Given the description of an element on the screen output the (x, y) to click on. 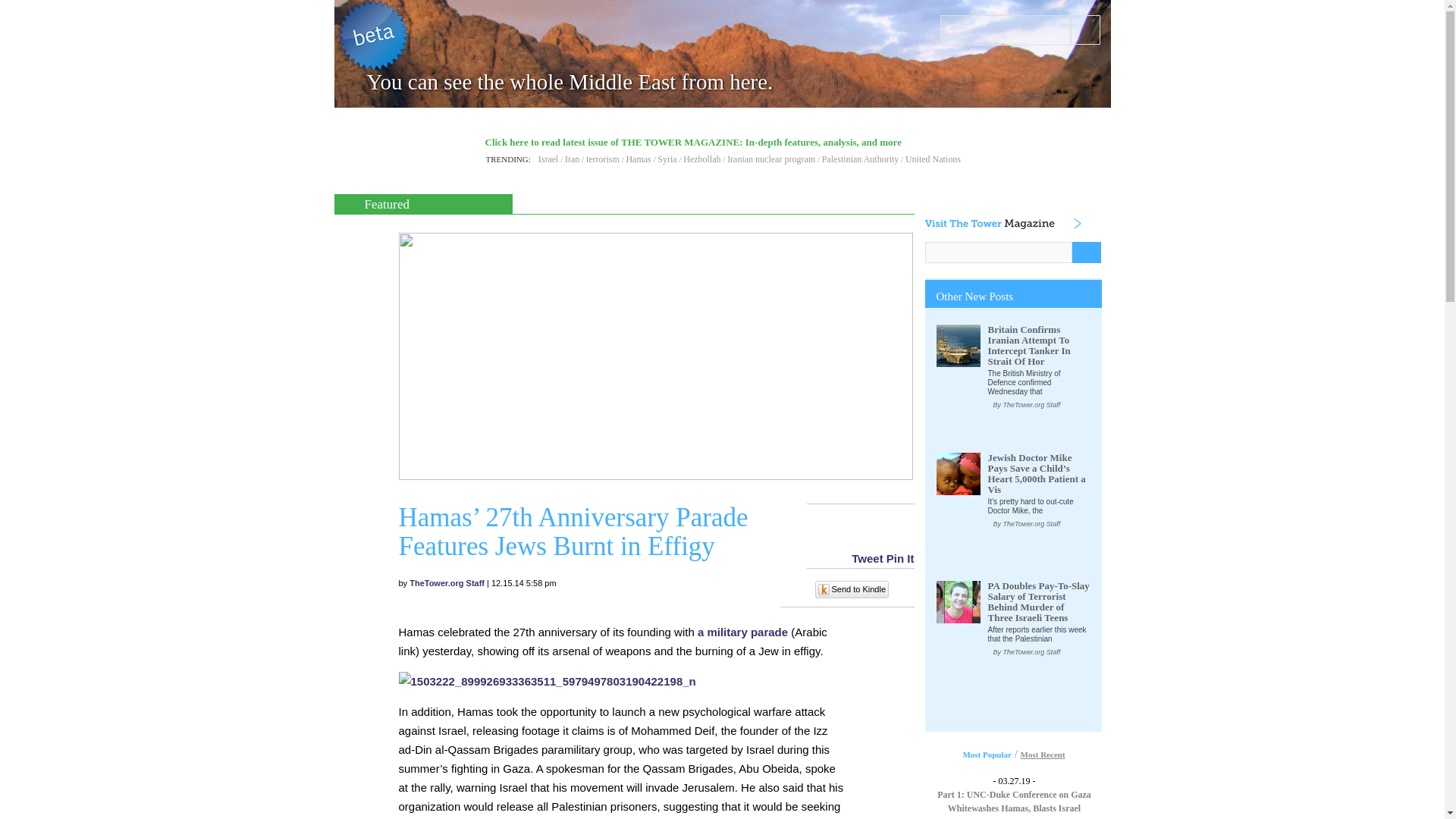
a military parade (742, 631)
Israel (548, 158)
TheTower.org Staff (447, 583)
Tweet (866, 558)
Pin It (900, 558)
Syria (667, 158)
Search (1085, 30)
Iran (571, 158)
Tower (398, 150)
Hamas (638, 158)
Iranian nuclear program (770, 158)
United Nations (932, 158)
Palestinian Authority (860, 158)
